Given the description of an element on the screen output the (x, y) to click on. 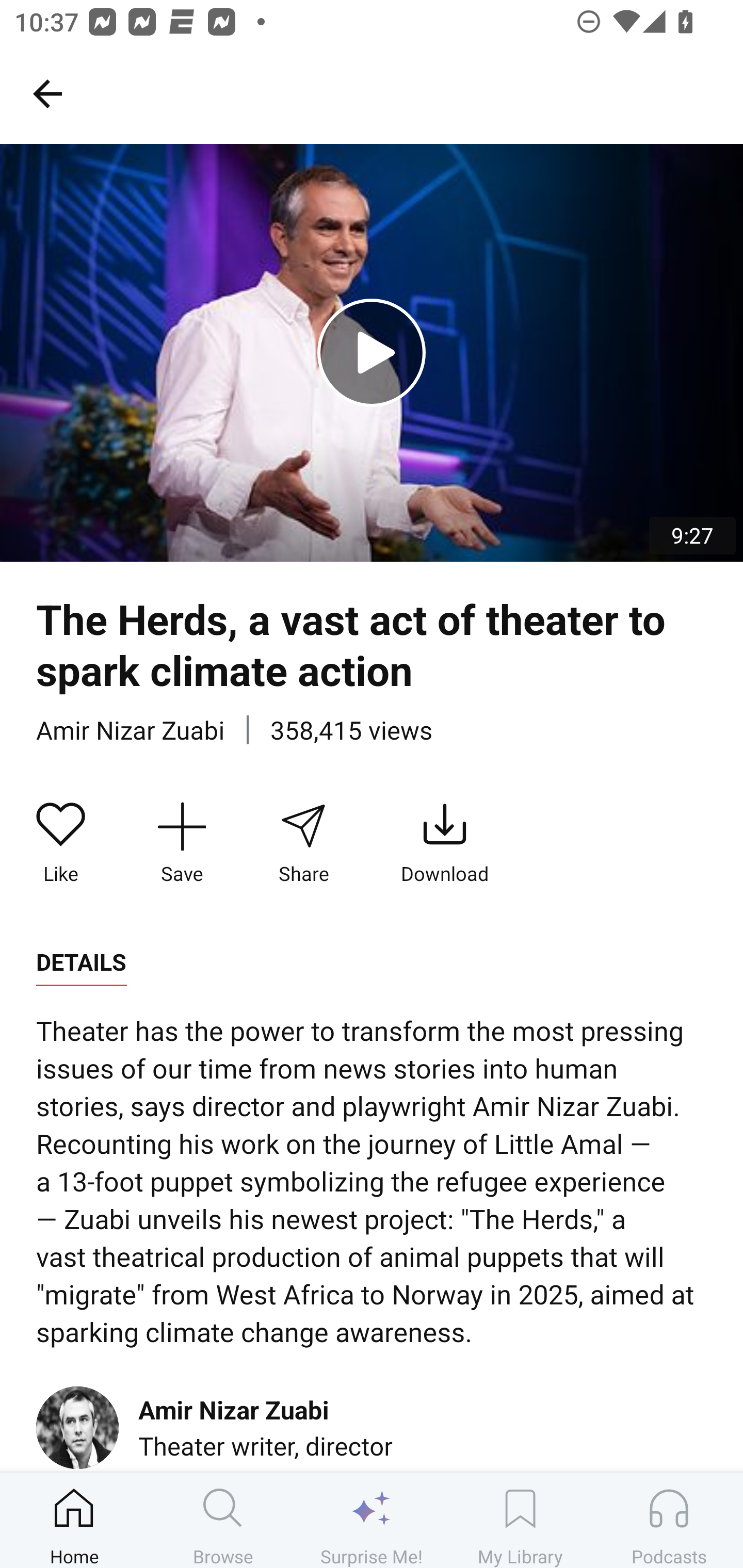
Go back (47, 92)
Like (60, 843)
Save (181, 843)
Share (302, 843)
Download (444, 843)
DETAILS (80, 962)
Home (74, 1520)
Browse (222, 1520)
Surprise Me! (371, 1520)
My Library (519, 1520)
Podcasts (668, 1520)
